Given the description of an element on the screen output the (x, y) to click on. 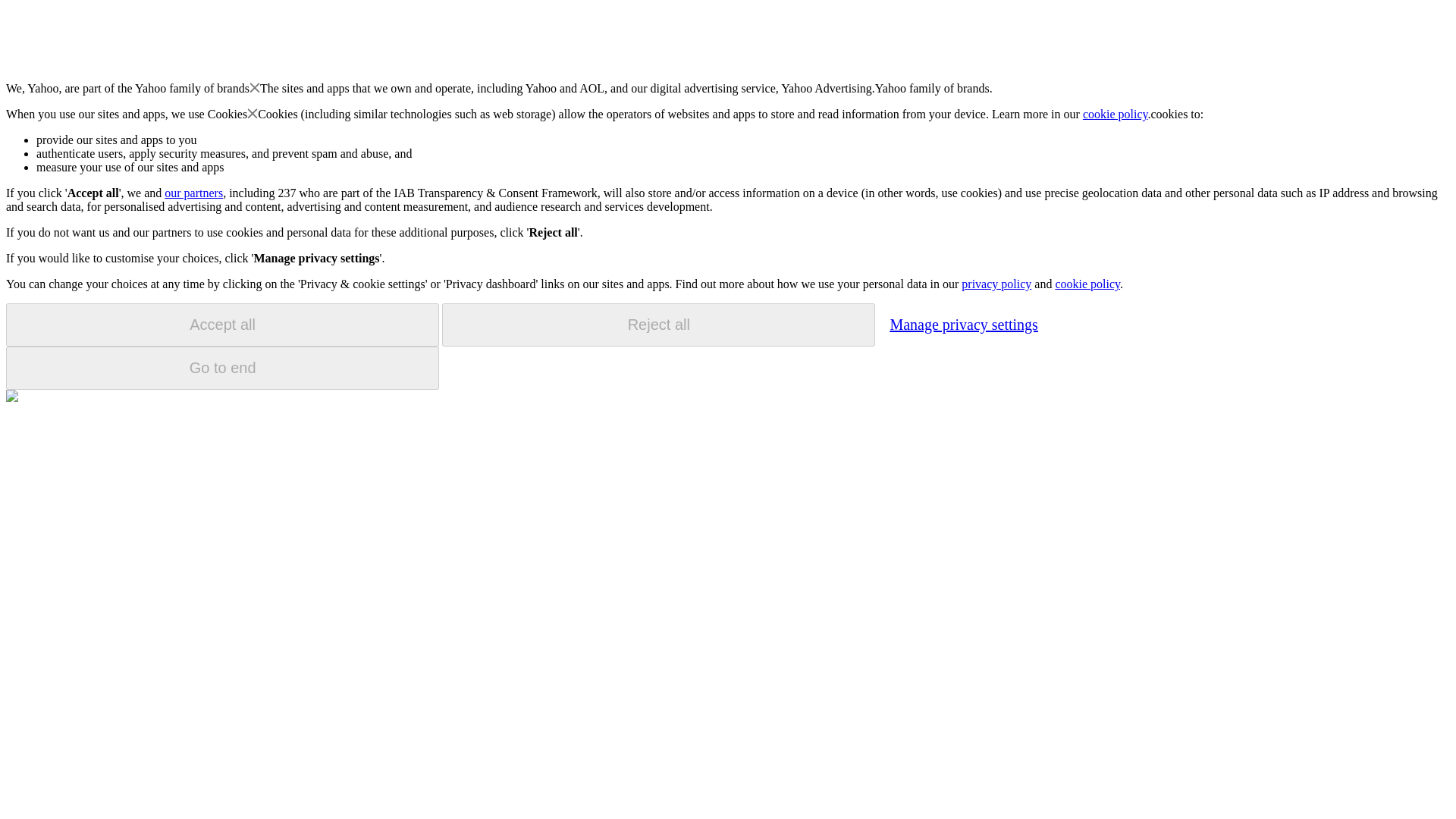
cookie policy (1115, 113)
Accept all (222, 324)
privacy policy (995, 283)
Manage privacy settings (963, 323)
cookie policy (1086, 283)
Reject all (658, 324)
our partners (193, 192)
Go to end (222, 367)
